Given the description of an element on the screen output the (x, y) to click on. 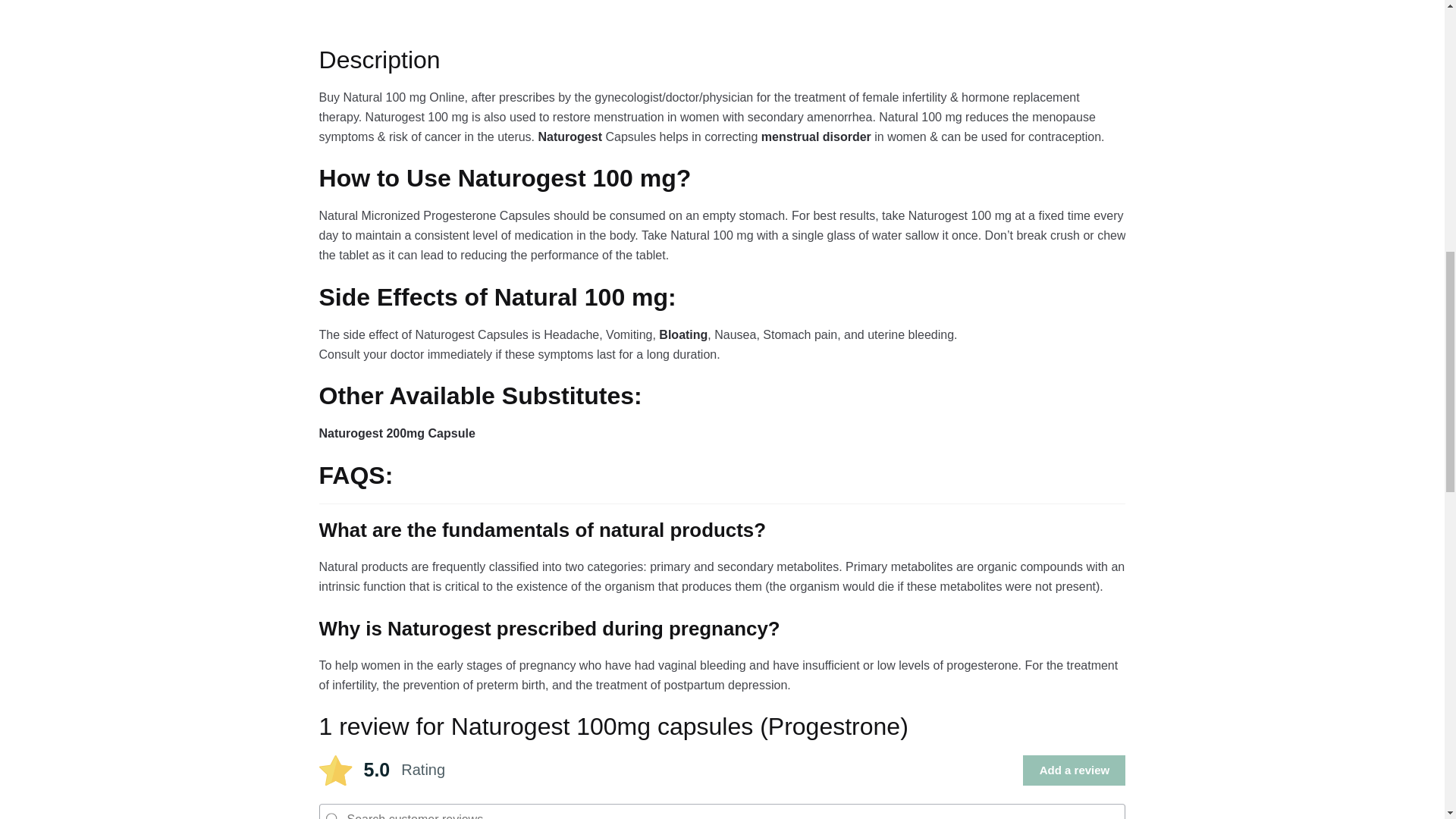
Bloating (683, 334)
Add a review (1074, 770)
Naturogest 200mg Capsule (397, 432)
menstrual disorder (816, 136)
Naturogest (571, 136)
